Given the description of an element on the screen output the (x, y) to click on. 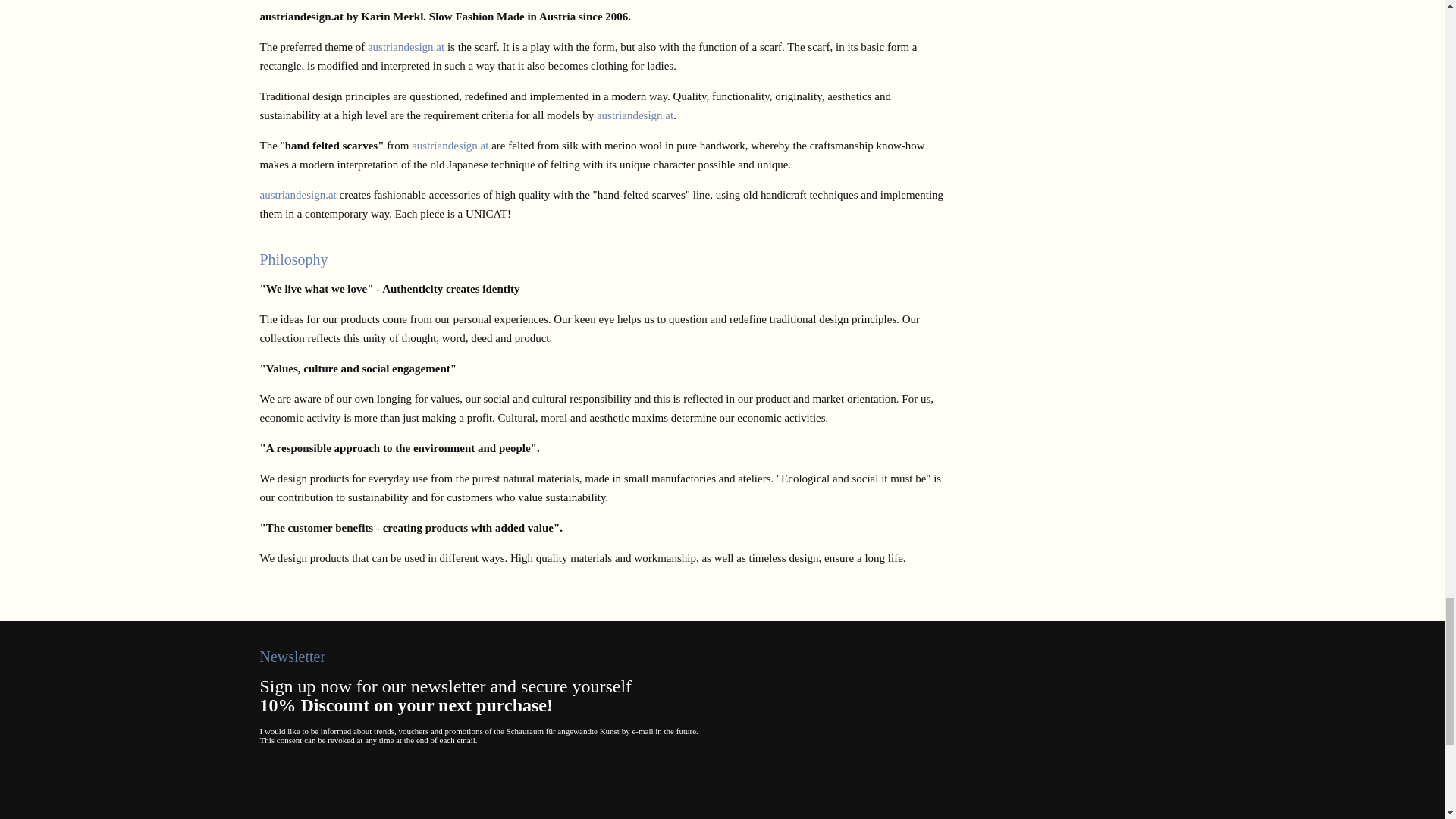
austriandesign.at (634, 114)
austriandesign.at (297, 193)
austriandesign.at (449, 145)
austriandesign.at (406, 46)
